Given the description of an element on the screen output the (x, y) to click on. 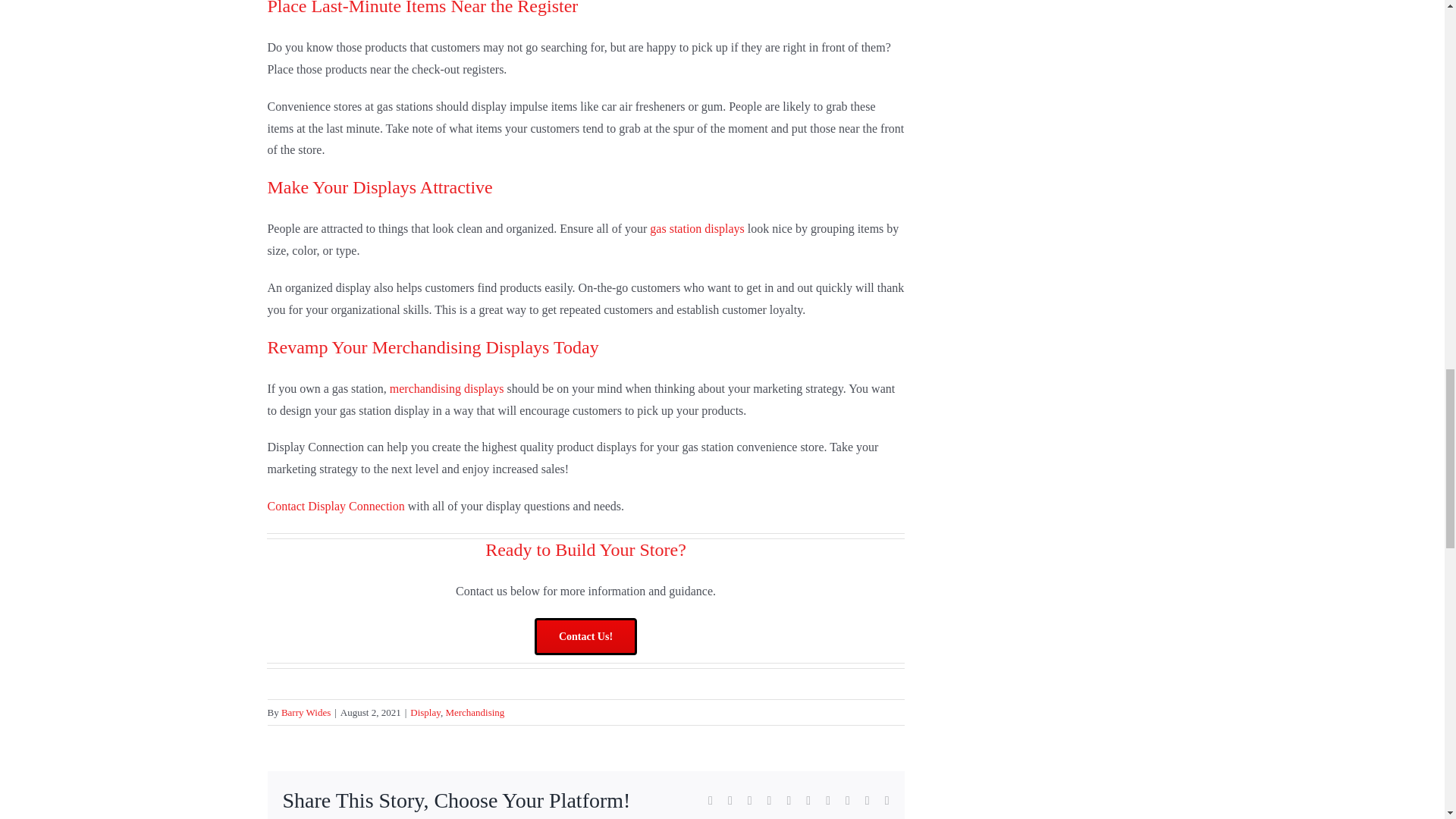
Merchandising (474, 712)
Contact Us! (585, 636)
Barry Wides (305, 712)
Contact Display Connection (335, 505)
Posts by Barry Wides (305, 712)
Display (425, 712)
gas station displays (696, 228)
merchandising displays (446, 388)
